Given the description of an element on the screen output the (x, y) to click on. 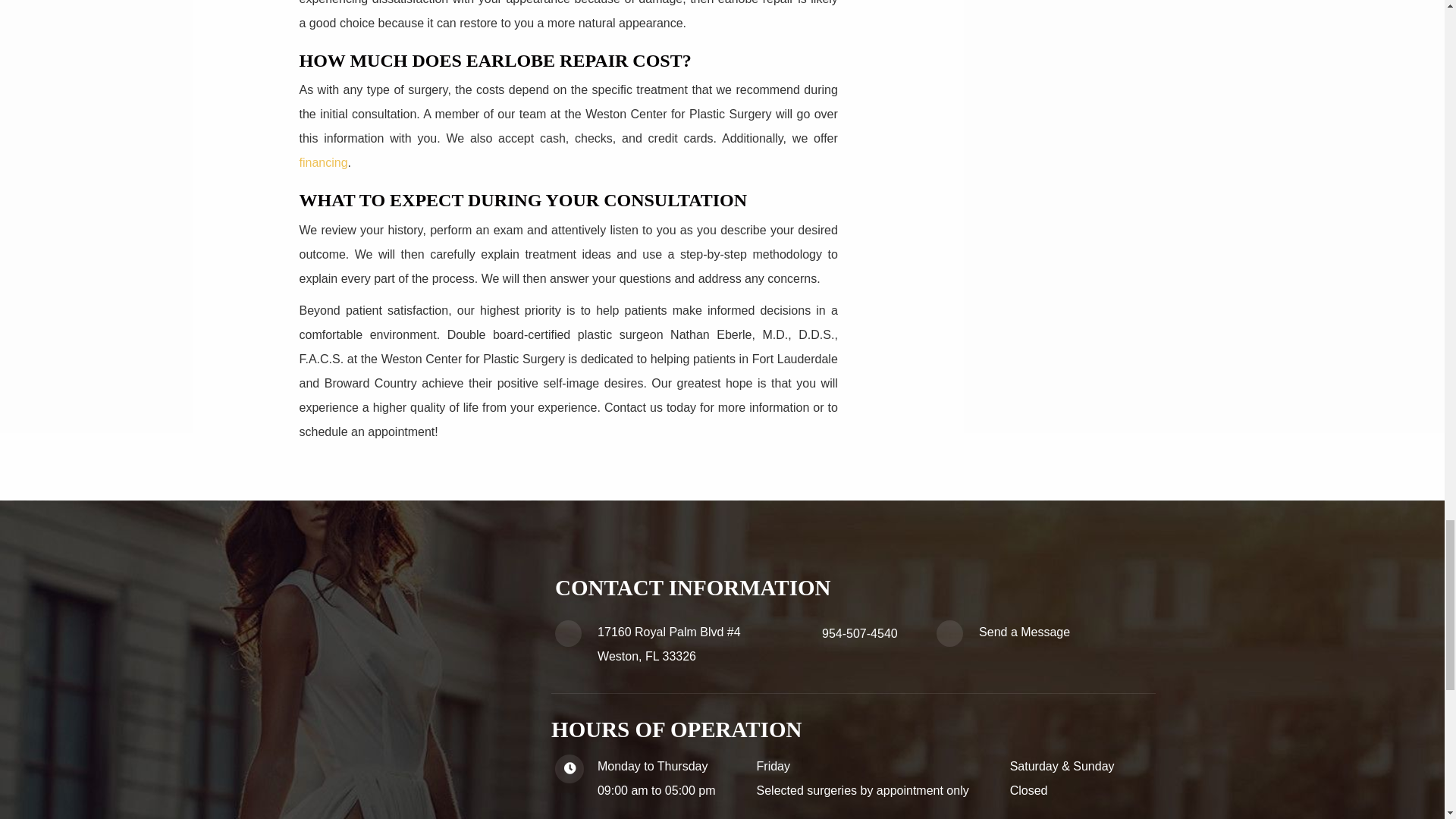
Call: 954-507-4540 (860, 633)
